Given the description of an element on the screen output the (x, y) to click on. 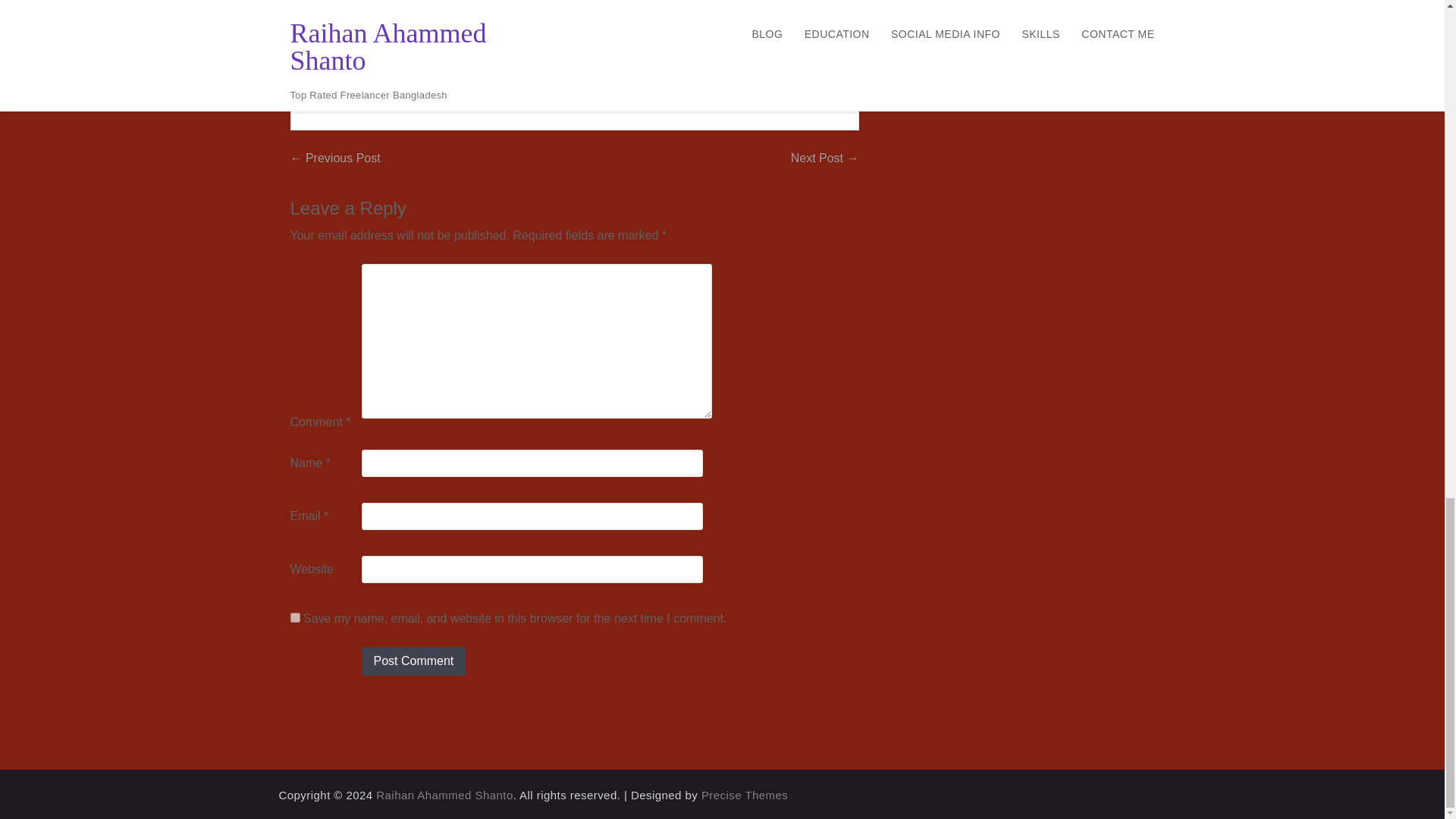
Raihan Ahammed Shanto (443, 794)
Uncategorized (352, 92)
Post Comment (413, 661)
Precise Themes (744, 794)
Post Comment (413, 661)
yes (294, 617)
